Given the description of an element on the screen output the (x, y) to click on. 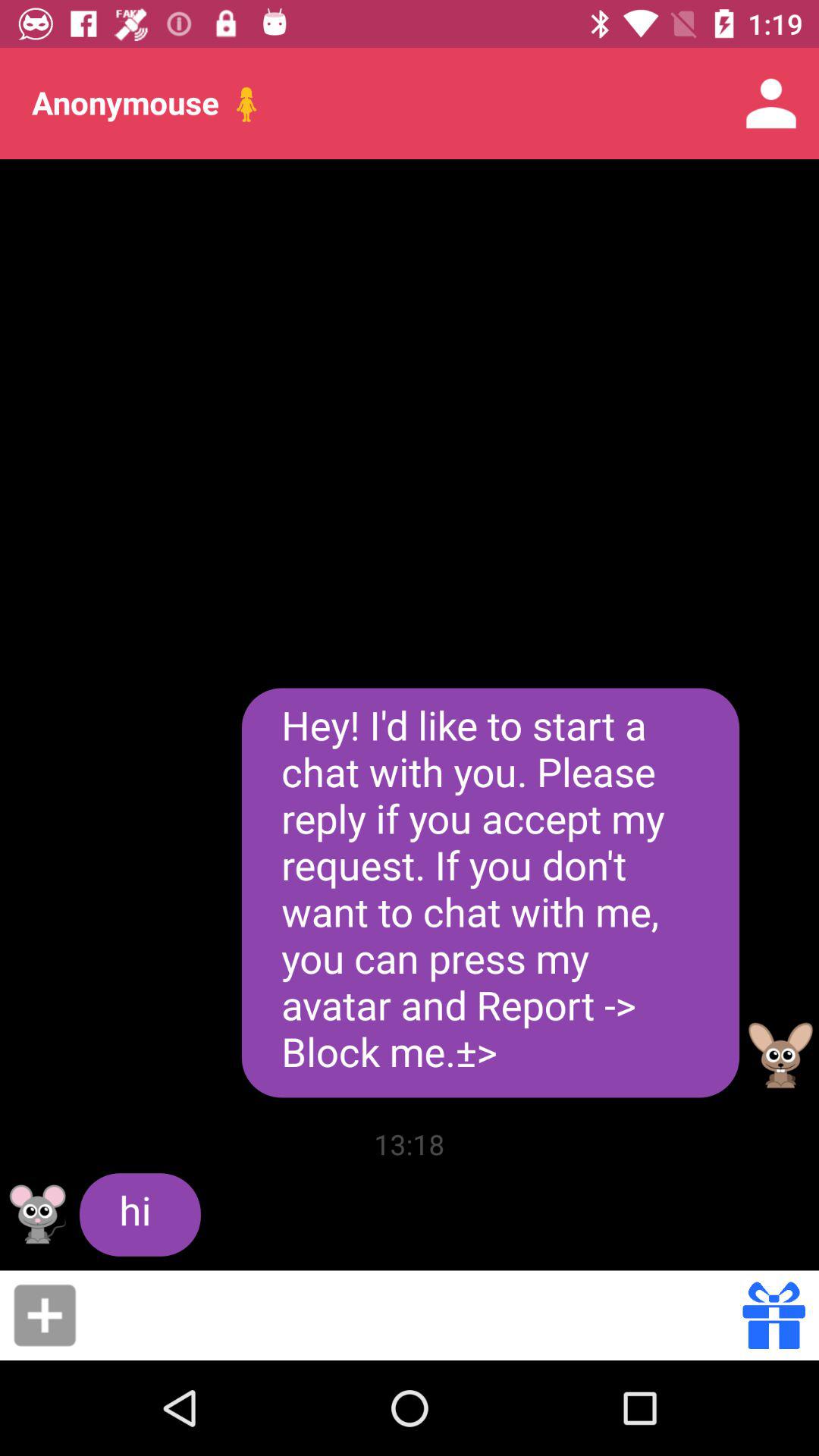
orange box flashing on adding files sign (44, 1315)
